Given the description of an element on the screen output the (x, y) to click on. 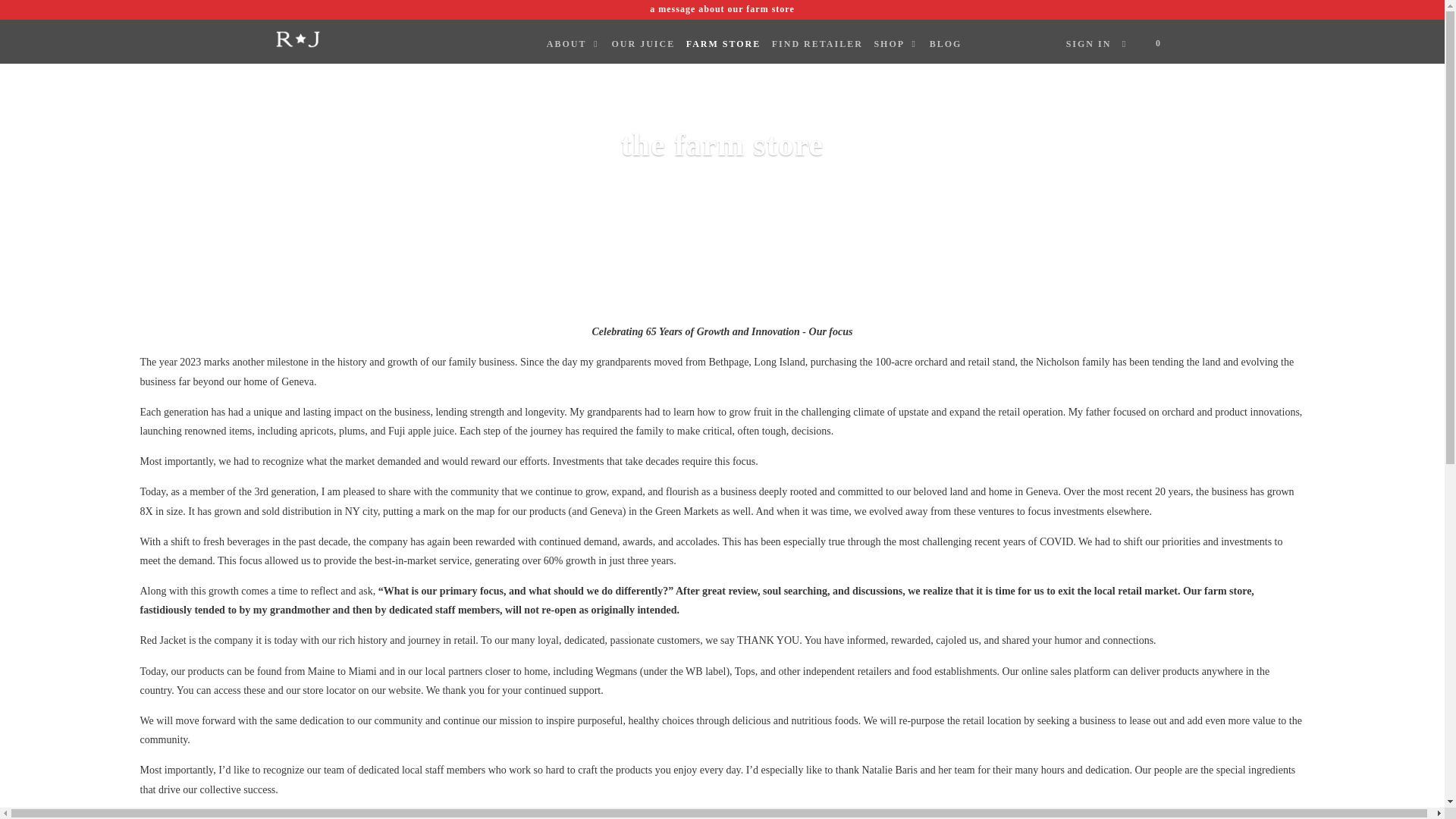
0 (1152, 43)
FARM STORE (723, 43)
OUR JUICE (643, 43)
Red Jacket Orchards (352, 39)
BLOG (945, 43)
SIGN IN (1088, 43)
a message about our farm store (722, 9)
SHOP   (895, 43)
My Account  (1088, 43)
ABOUT   (573, 43)
